Given the description of an element on the screen output the (x, y) to click on. 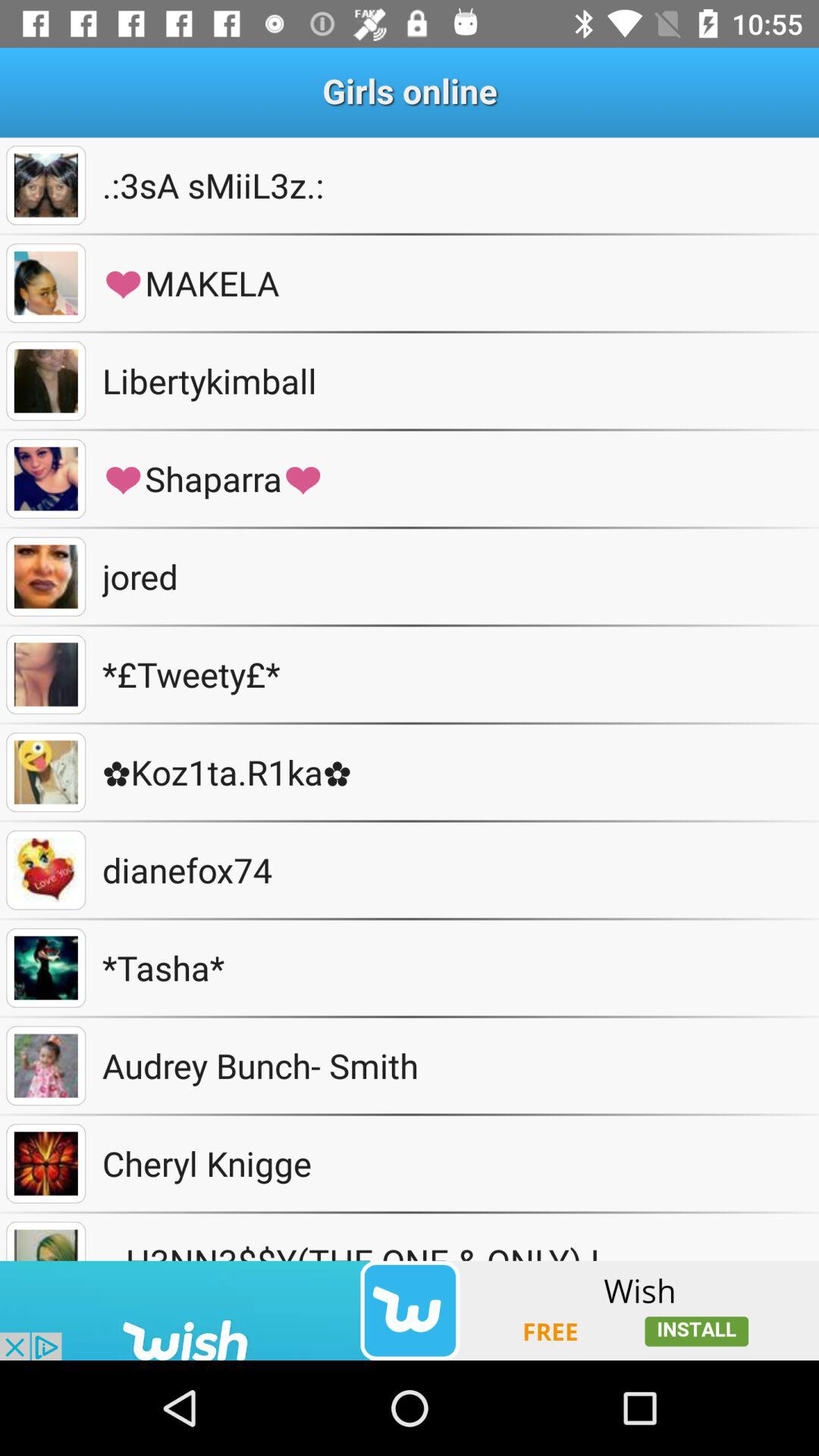
face book page (45, 283)
